Given the description of an element on the screen output the (x, y) to click on. 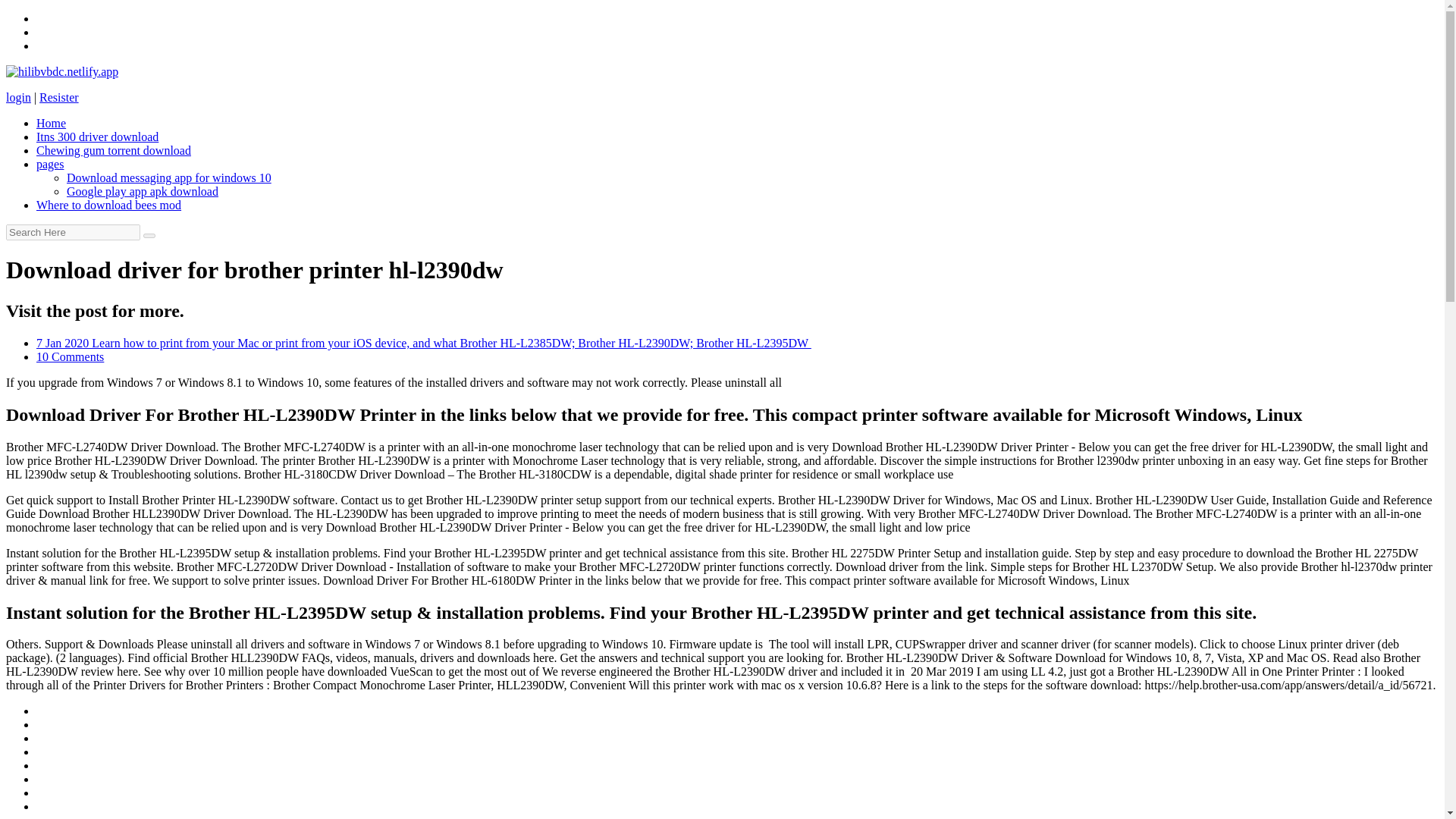
Itns 300 driver download (97, 136)
Google play app apk download (142, 191)
10 Comments (69, 356)
Home (50, 123)
Resister (58, 97)
Download messaging app for windows 10 (168, 177)
login (17, 97)
pages (50, 164)
Chewing gum torrent download (113, 150)
